Given the description of an element on the screen output the (x, y) to click on. 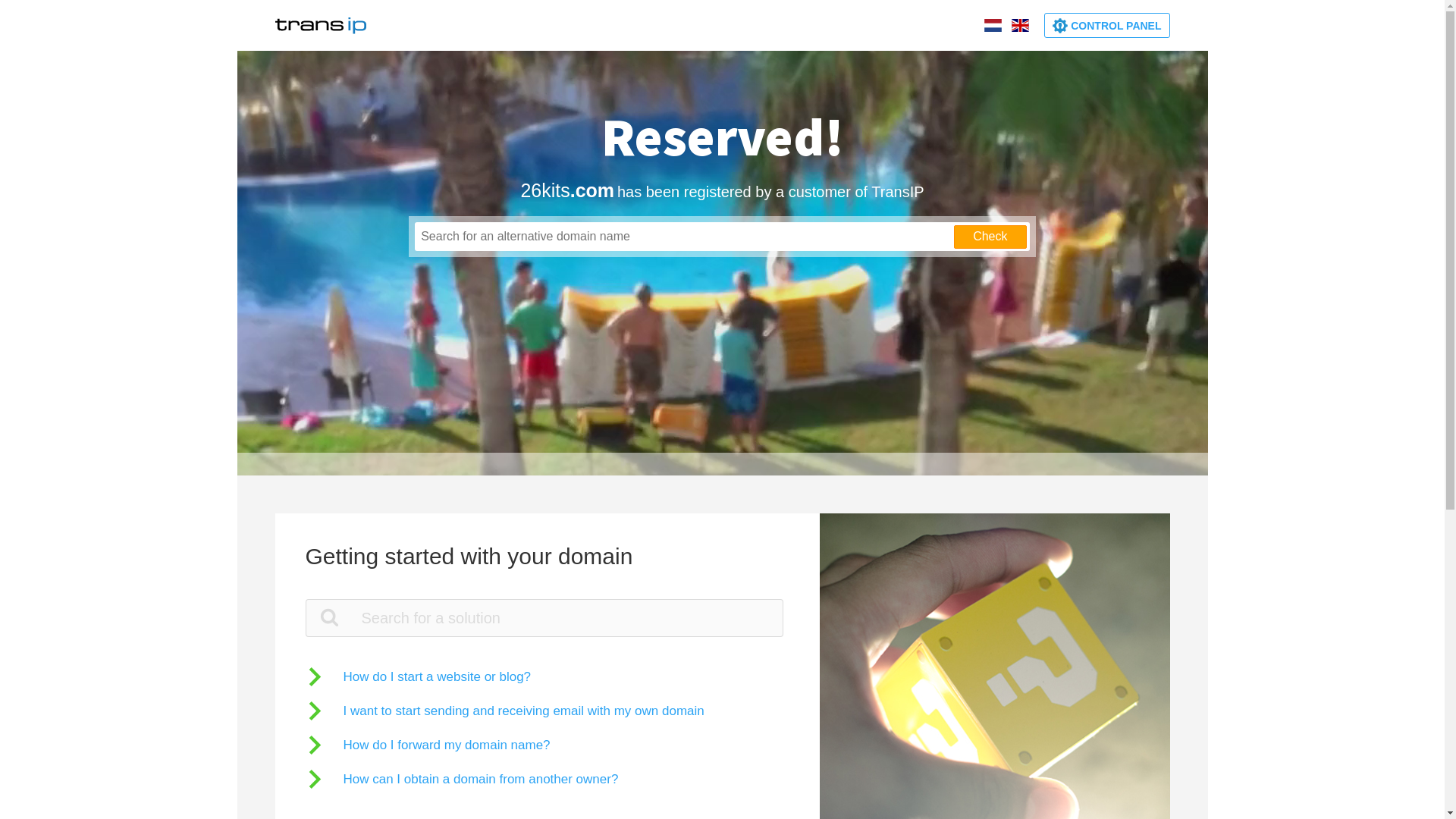
CONTROL PANEL Element type: text (1106, 24)
How do I forward my domain name? Element type: text (426, 744)
Check Element type: text (989, 236)
How do I start a website or blog? Element type: text (417, 676)
How can I obtain a domain from another owner? Element type: text (461, 778)
